Given the description of an element on the screen output the (x, y) to click on. 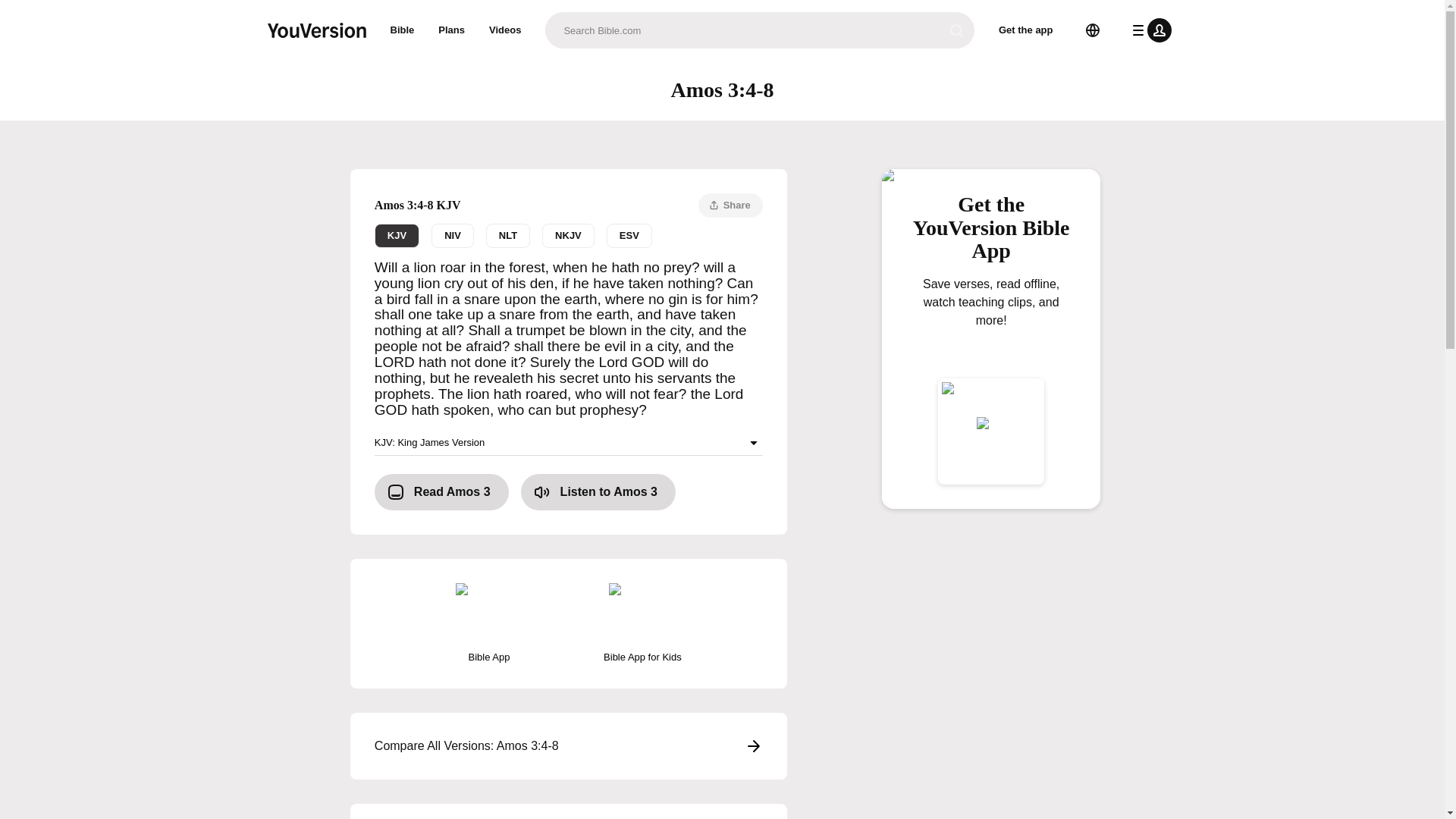
Videos (504, 29)
Save verses, read offline, watch teaching clips, and more! (991, 326)
Get the YouVersion Bible App (991, 234)
Bible App for Kids (642, 624)
KJV: King James Version (568, 442)
Get the app (568, 235)
NIV (1026, 29)
Bible (452, 235)
Share (401, 29)
ESV (730, 205)
Read Amos 3 (629, 235)
Listen to Amos 3 (441, 492)
Plans (598, 492)
